Given the description of an element on the screen output the (x, y) to click on. 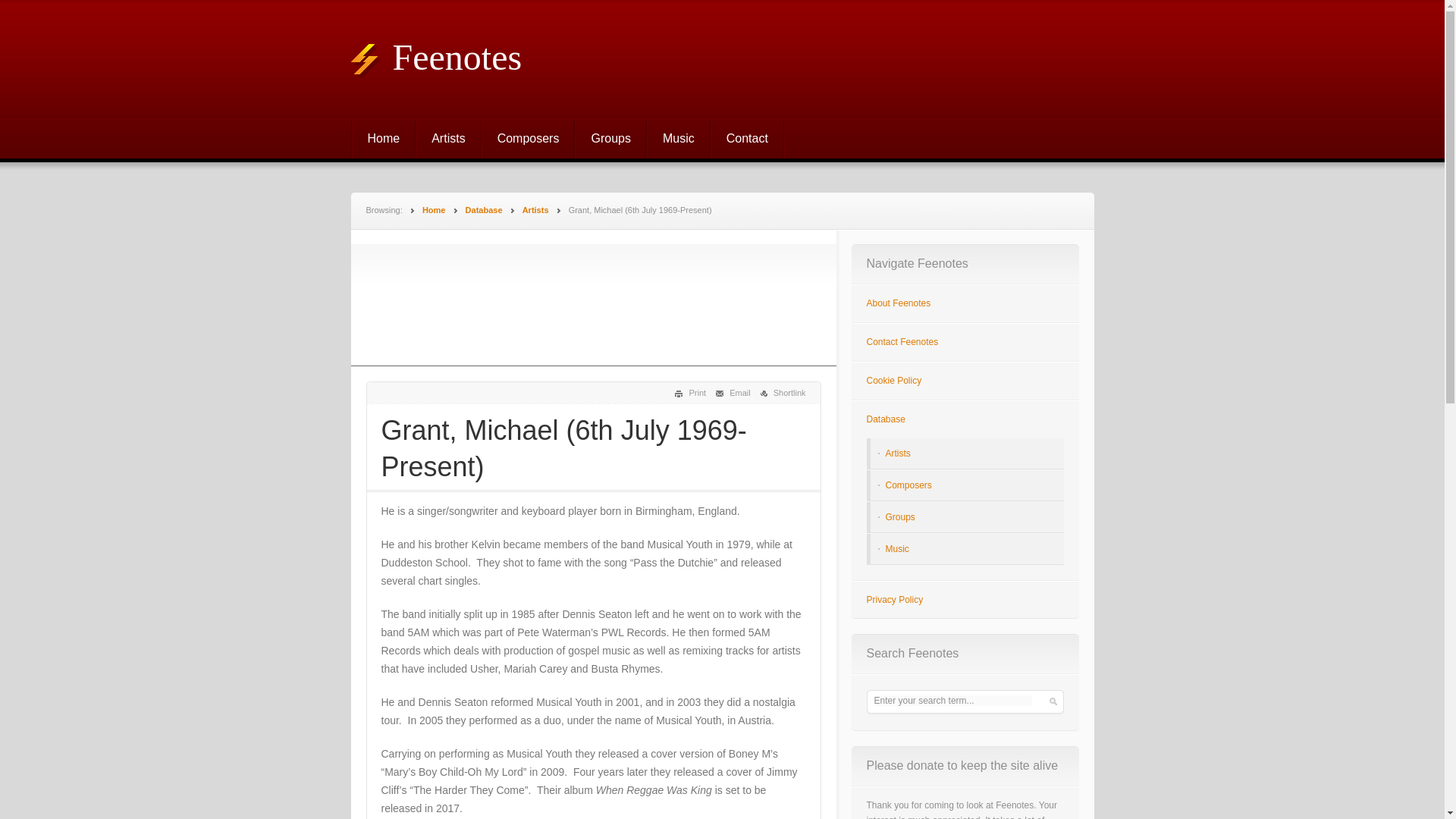
Feenotes (435, 56)
Email (733, 392)
Artists (898, 452)
Feenotes (433, 209)
Artists (535, 209)
Home (433, 209)
Groups (610, 138)
Music (679, 138)
Cookie Policy (893, 380)
Enter your search term... (951, 700)
Print (690, 392)
Composers (908, 484)
Advertisement (592, 304)
Contact Feenotes (901, 341)
Privacy Policy (894, 599)
